Given the description of an element on the screen output the (x, y) to click on. 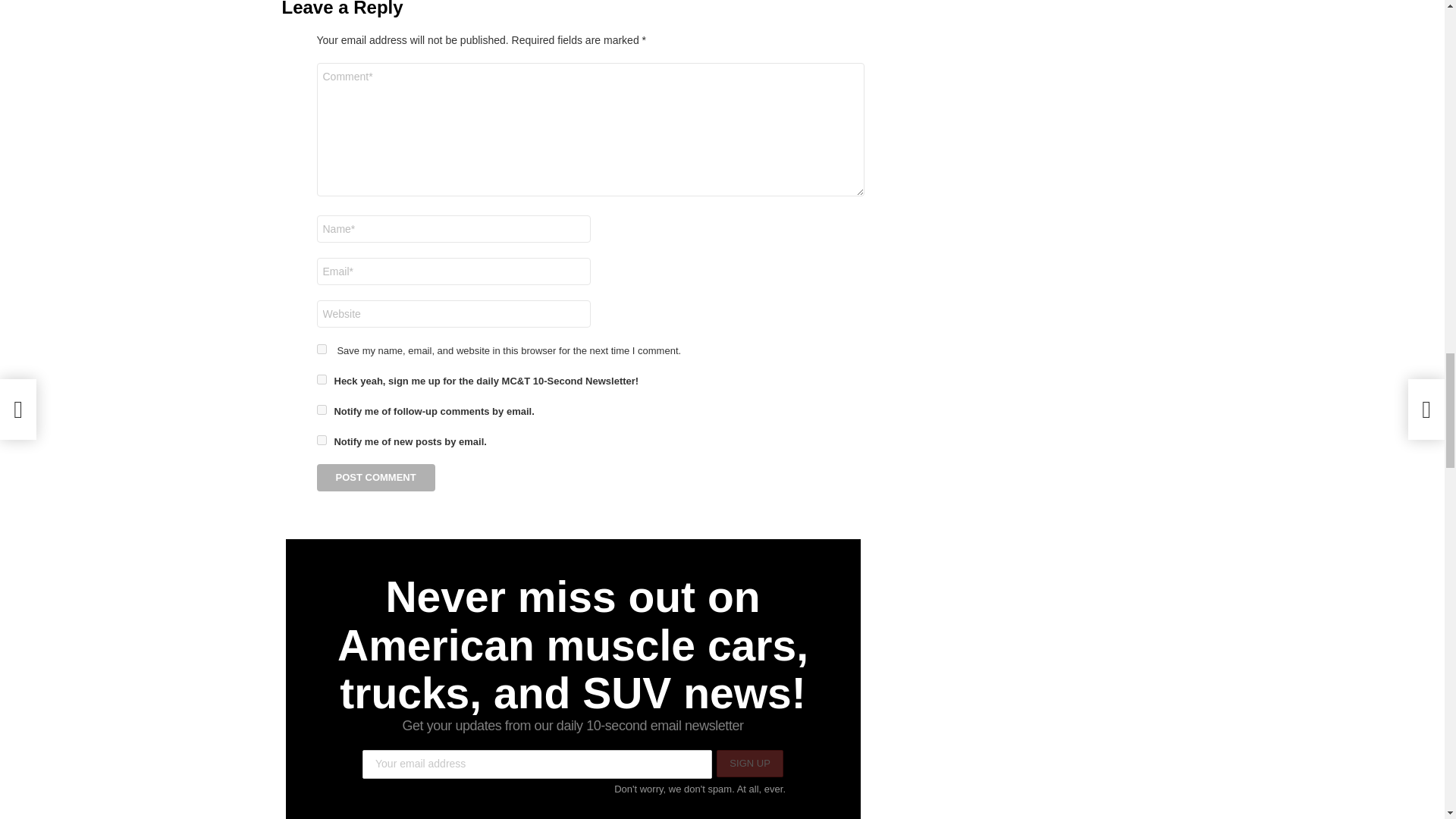
subscribe (321, 439)
yes (321, 348)
1 (321, 379)
Post Comment (376, 477)
subscribe (321, 409)
Sign up (749, 764)
